Given the description of an element on the screen output the (x, y) to click on. 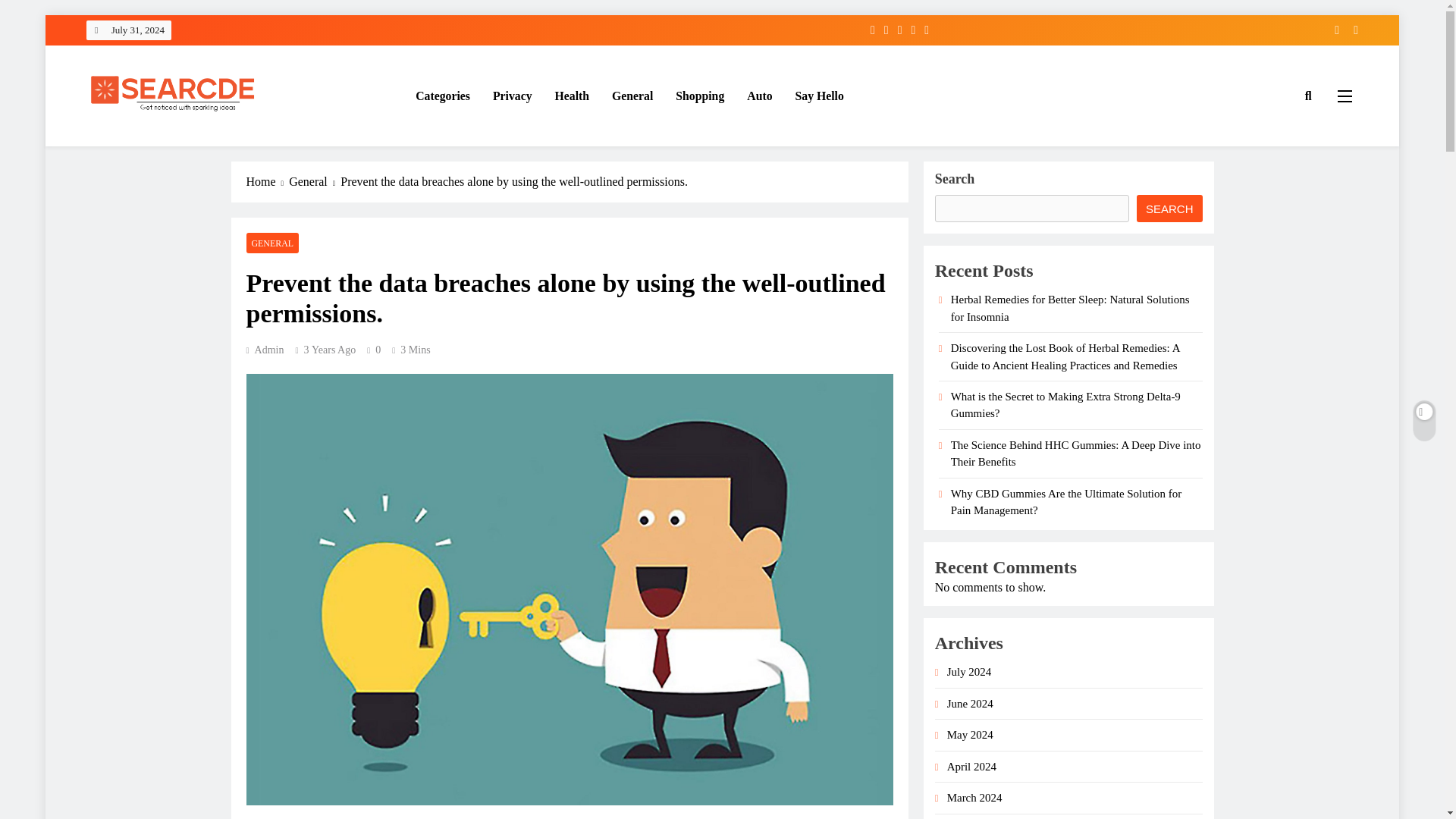
Home (267, 181)
Shopping (699, 96)
General (314, 181)
Health (572, 96)
3 Years Ago (330, 349)
Categories (442, 96)
Privacy (512, 96)
Auto (759, 96)
Say Hello (820, 96)
SEARCH (1169, 207)
General (631, 96)
Searcde (127, 147)
